Given the description of an element on the screen output the (x, y) to click on. 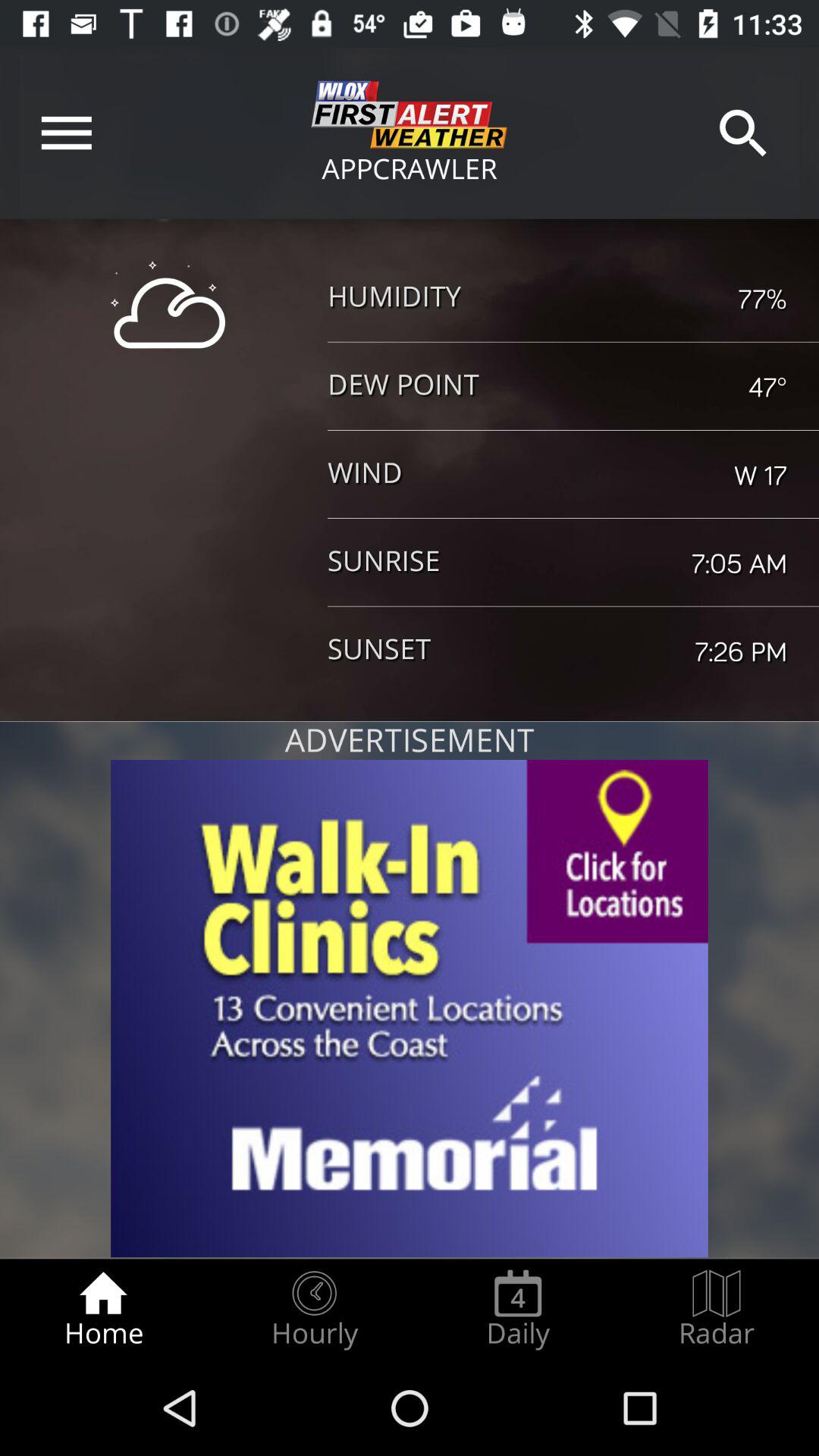
launch radio button to the left of the radar radio button (518, 1309)
